Given the description of an element on the screen output the (x, y) to click on. 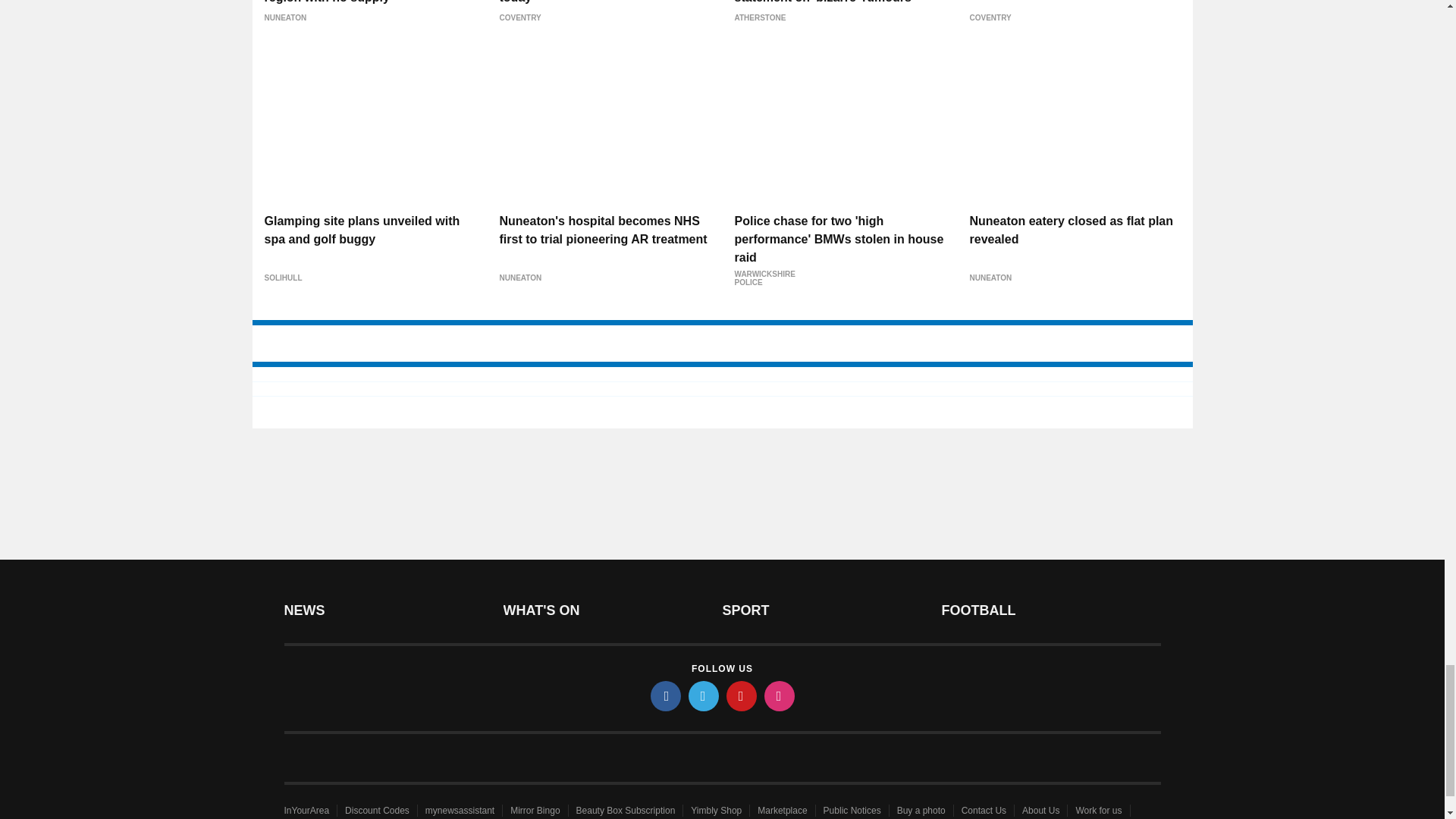
facebook (665, 695)
pinterest (741, 695)
twitter (703, 695)
instagram (779, 695)
